Given the description of an element on the screen output the (x, y) to click on. 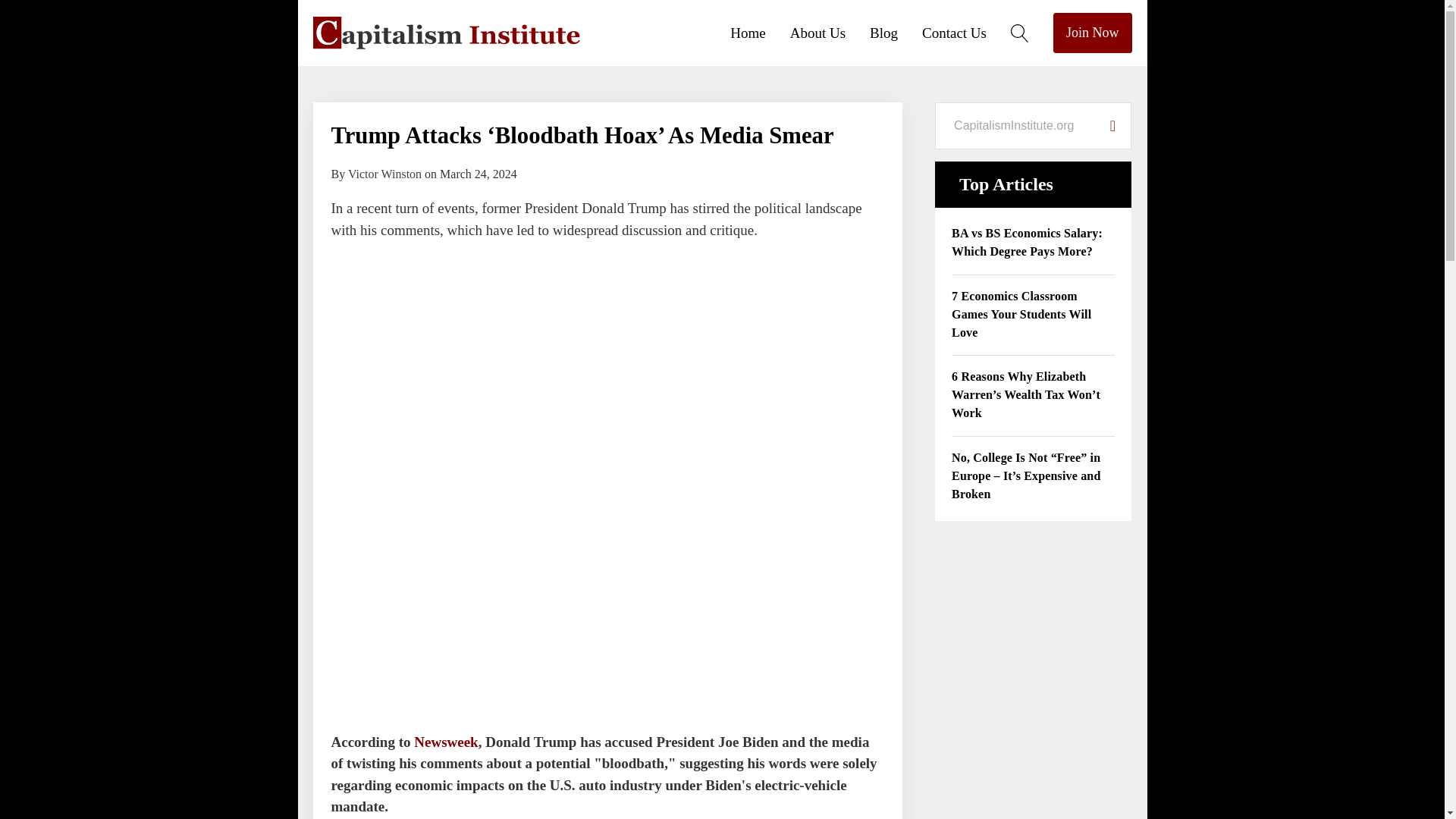
Blog (895, 32)
Newsweek (445, 741)
Home (759, 32)
7 Economics Classroom Games Your Students Will Love (1033, 315)
Contact Us (965, 32)
BA vs BS Economics Salary: Which Degree Pays More? (1033, 243)
About Us (829, 32)
Search for: (1015, 125)
Join Now (1092, 33)
Victor Winston (384, 173)
